Given the description of an element on the screen output the (x, y) to click on. 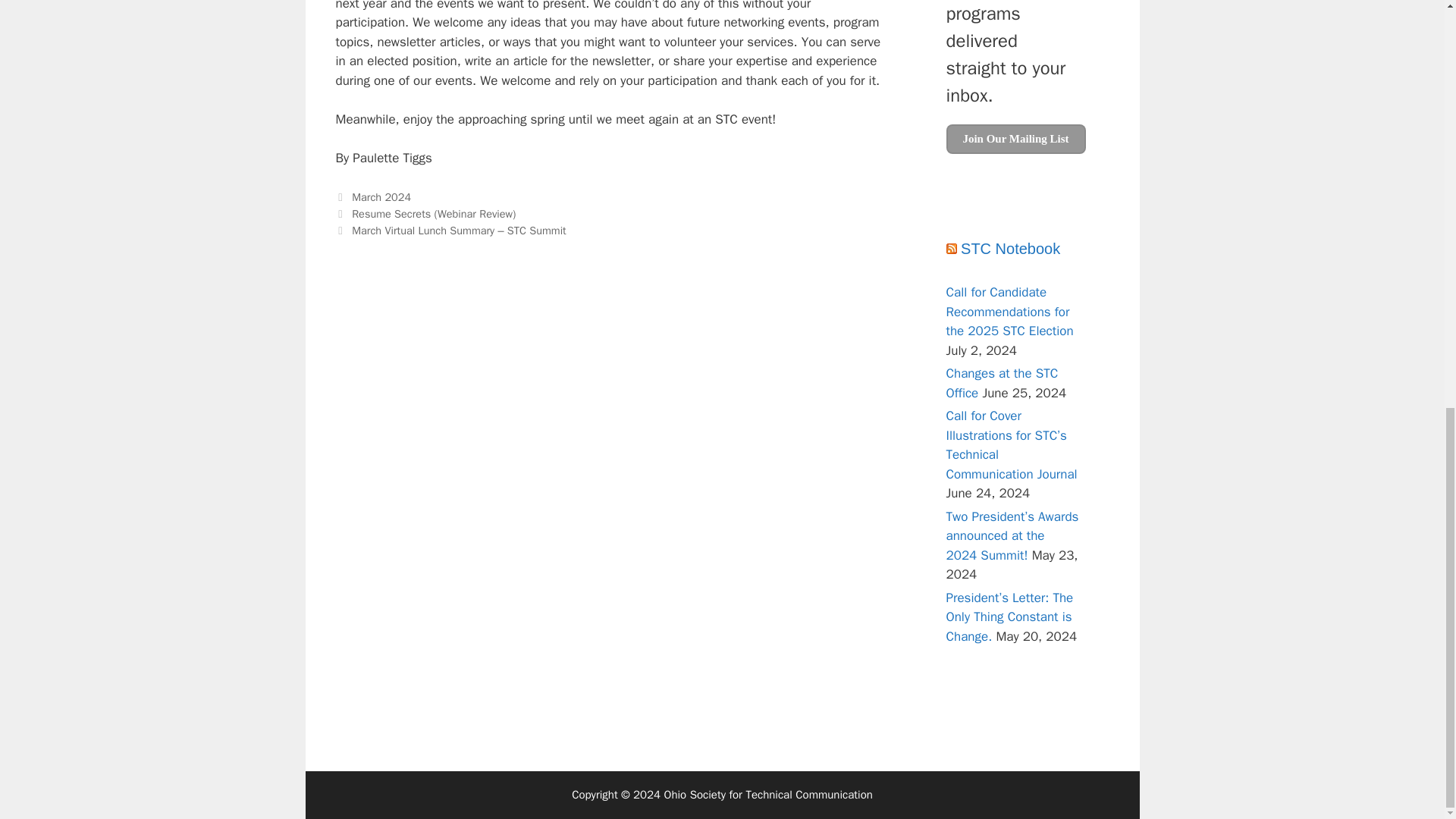
March 2024 (381, 196)
Join Our Mailing List (1016, 138)
Join Our Mailing List (1016, 138)
Scroll back to top (1406, 727)
Call for Candidate Recommendations for the 2025 STC Election (1010, 311)
STC Notebook (1009, 248)
